Given the description of an element on the screen output the (x, y) to click on. 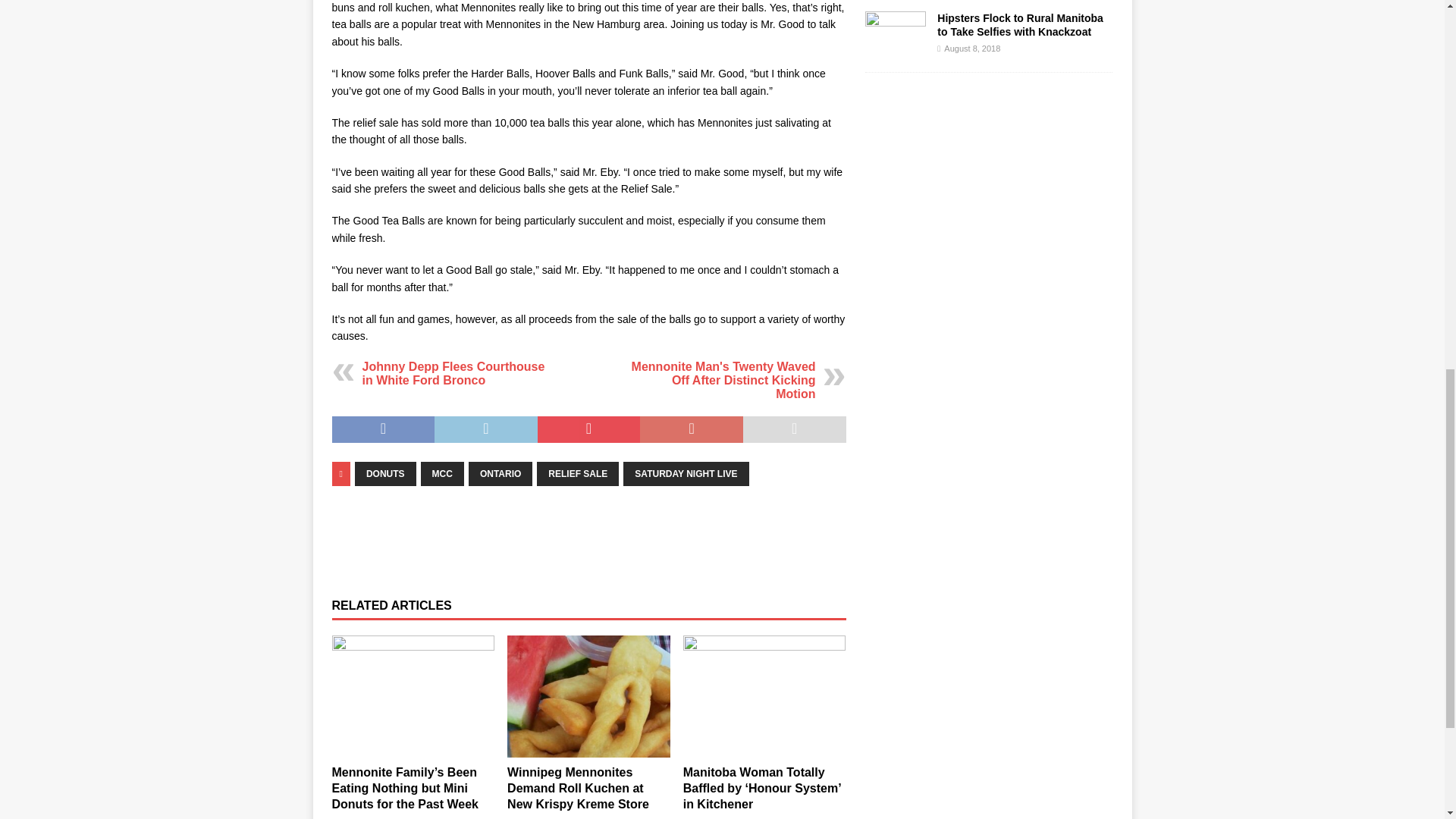
RELIEF SALE (577, 473)
DONUTS (385, 473)
MCC (442, 473)
SATURDAY NIGHT LIVE (685, 473)
Johnny Depp Flees Courthouse in White Ford Bronco (453, 373)
ONTARIO (500, 473)
